Given the description of an element on the screen output the (x, y) to click on. 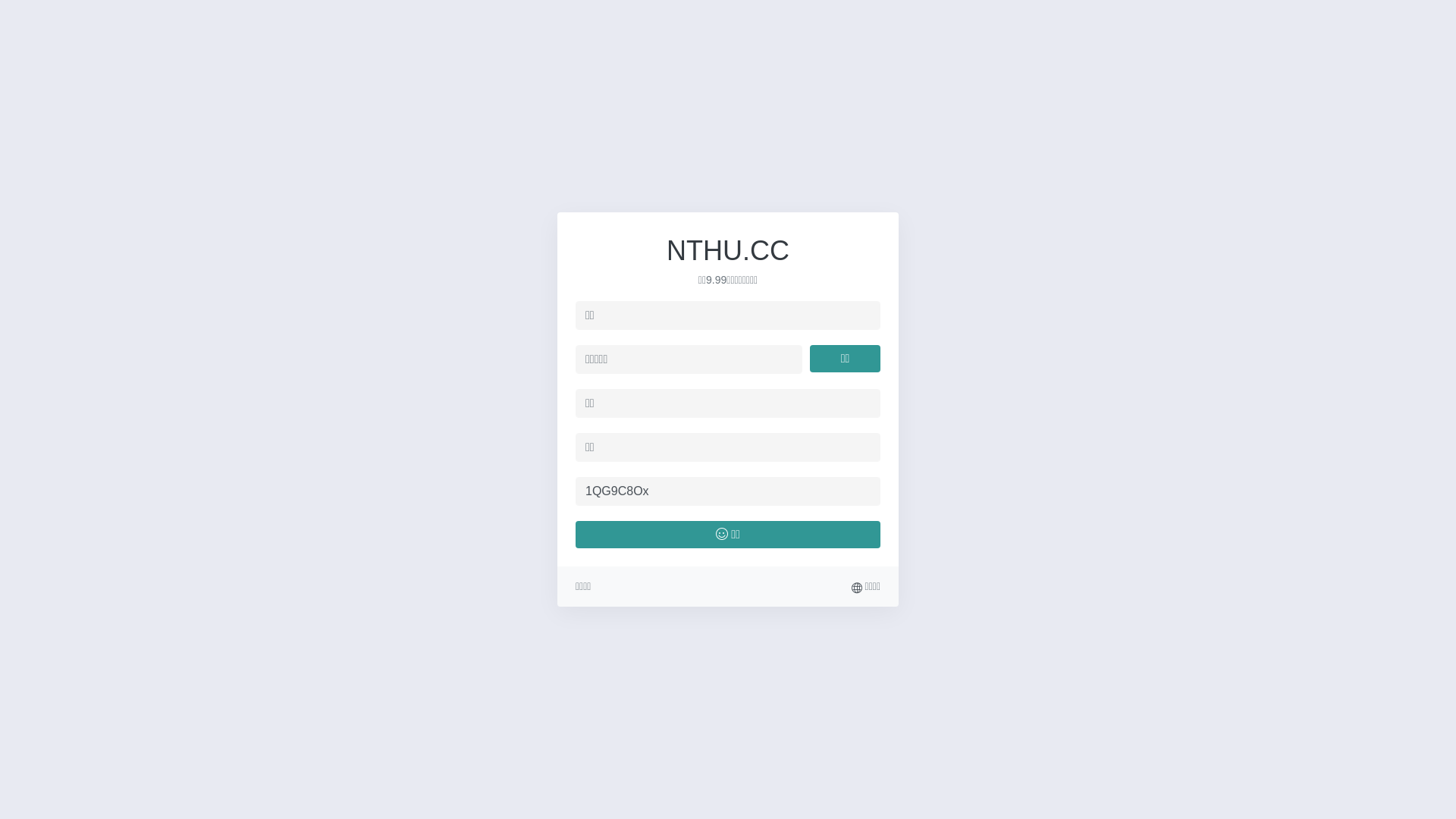
NTHU.CC Element type: text (727, 250)
